Given the description of an element on the screen output the (x, y) to click on. 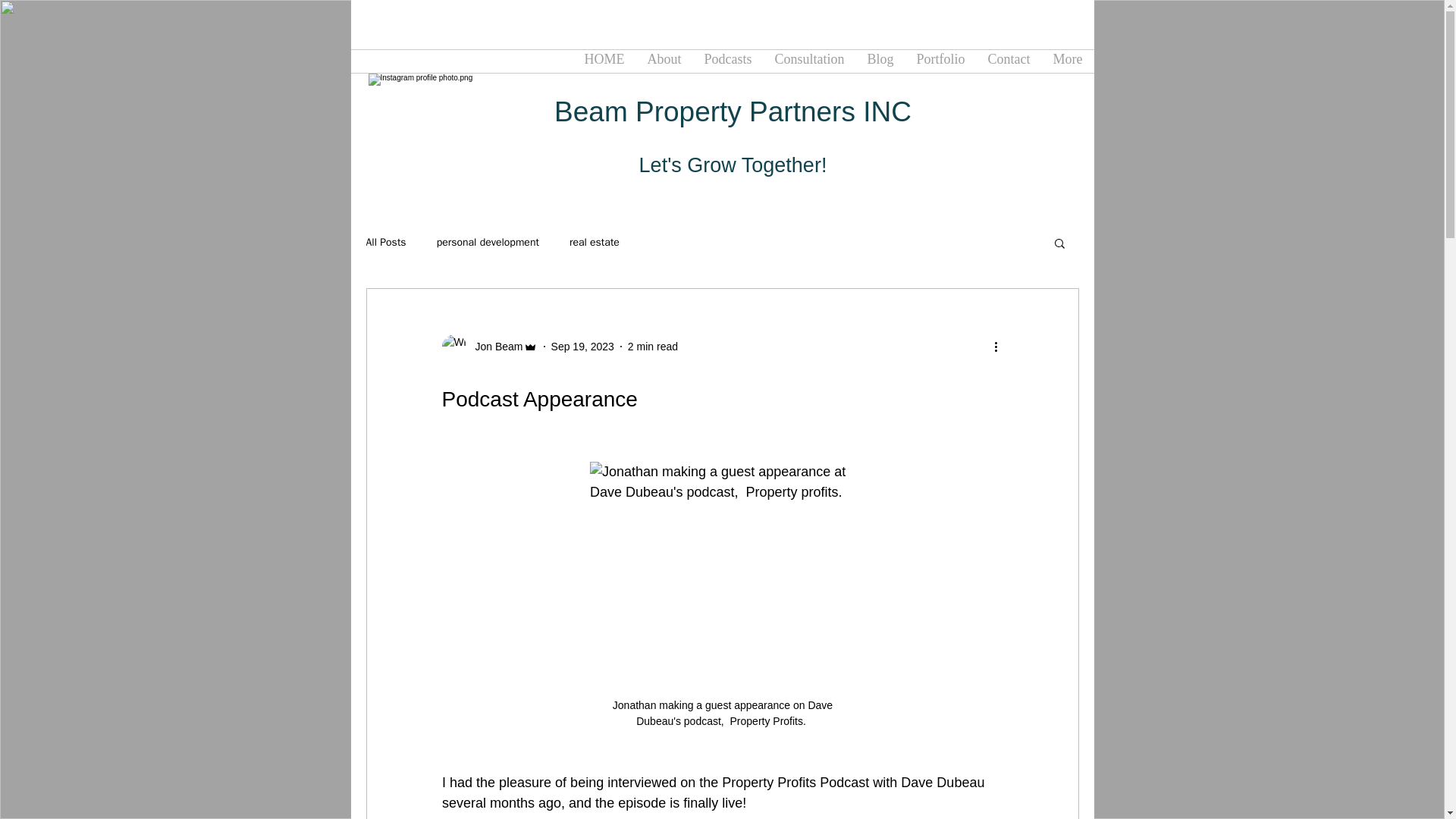
Portfolio (939, 60)
All Posts (385, 242)
Consultation (809, 60)
2 min read (652, 345)
real estate (594, 242)
Blog (880, 60)
Contact (1009, 60)
Jon Beam (493, 345)
Sep 19, 2023 (582, 345)
Podcasts (727, 60)
personal development (487, 242)
HOME (603, 60)
About (663, 60)
Jon Beam (489, 346)
